Given the description of an element on the screen output the (x, y) to click on. 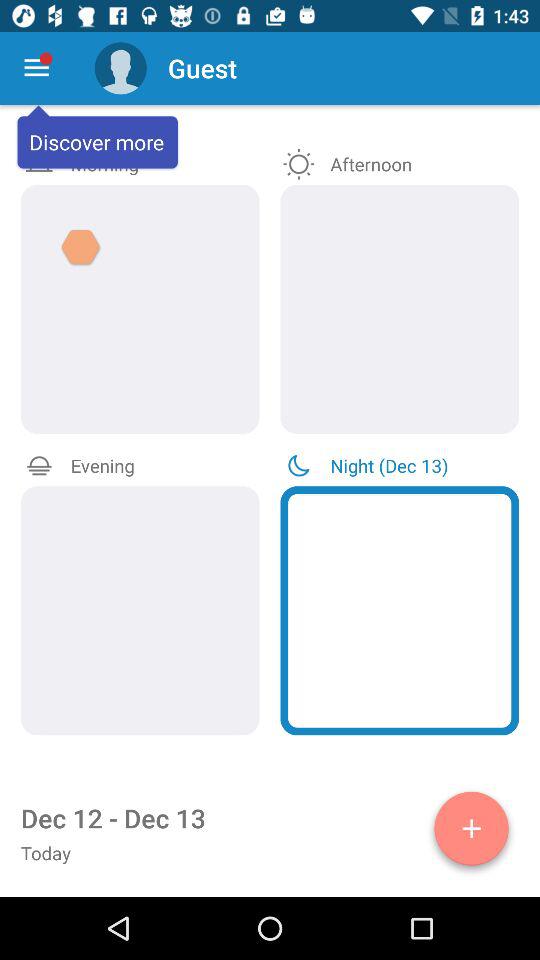
add option (471, 832)
